Given the description of an element on the screen output the (x, y) to click on. 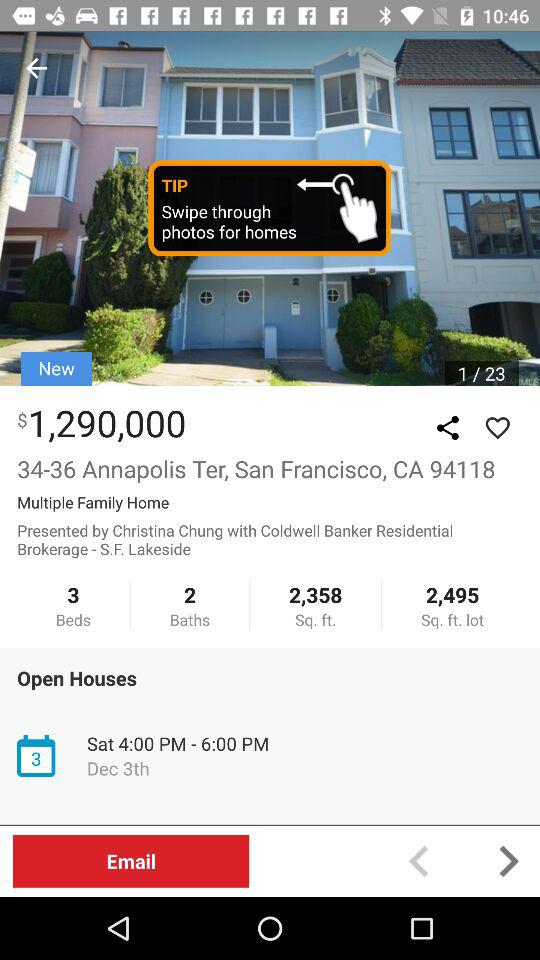
share information (447, 428)
